Given the description of an element on the screen output the (x, y) to click on. 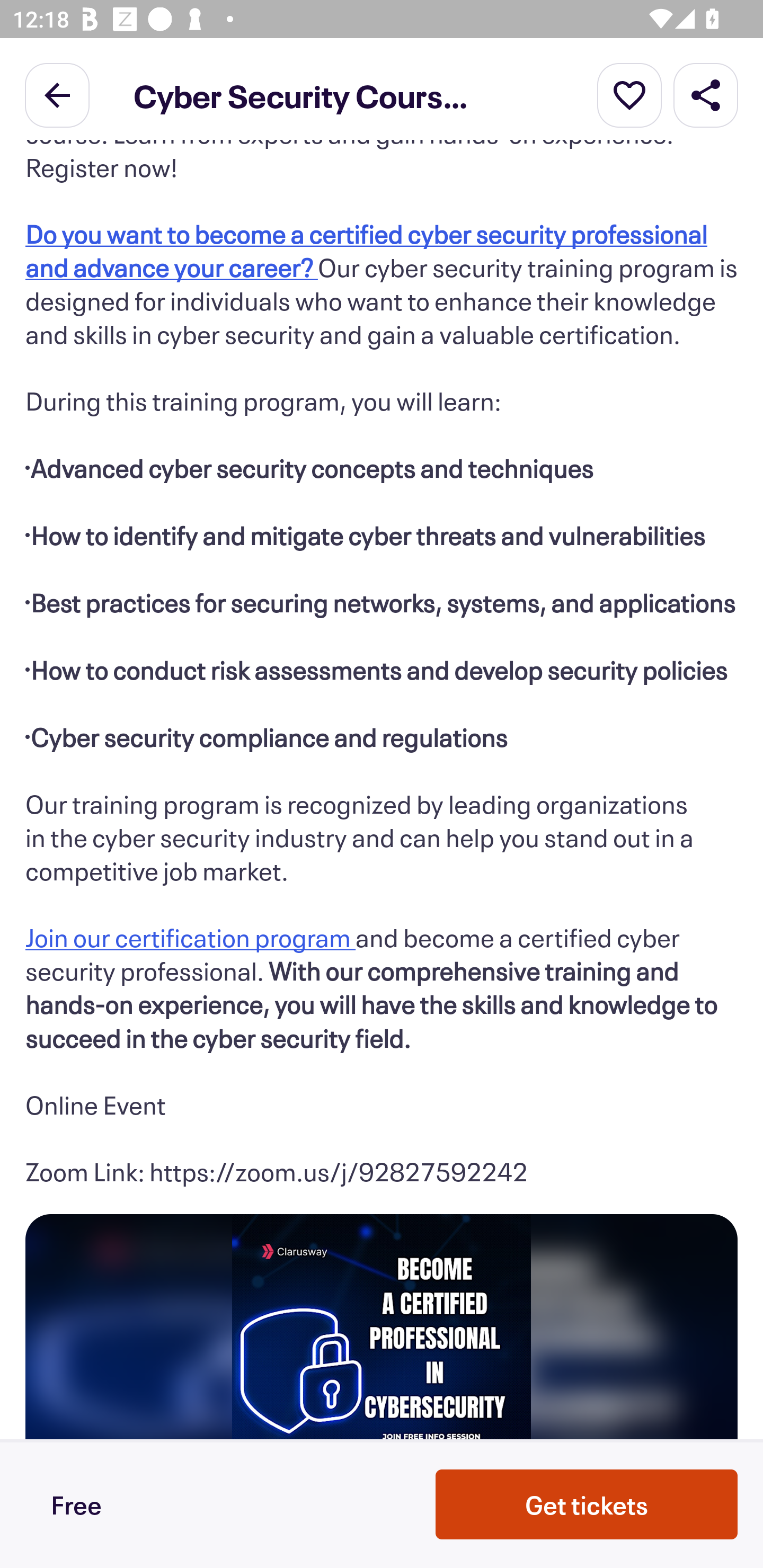
Back (57, 94)
More (629, 94)
Share (705, 94)
Get tickets (586, 1504)
